Given the description of an element on the screen output the (x, y) to click on. 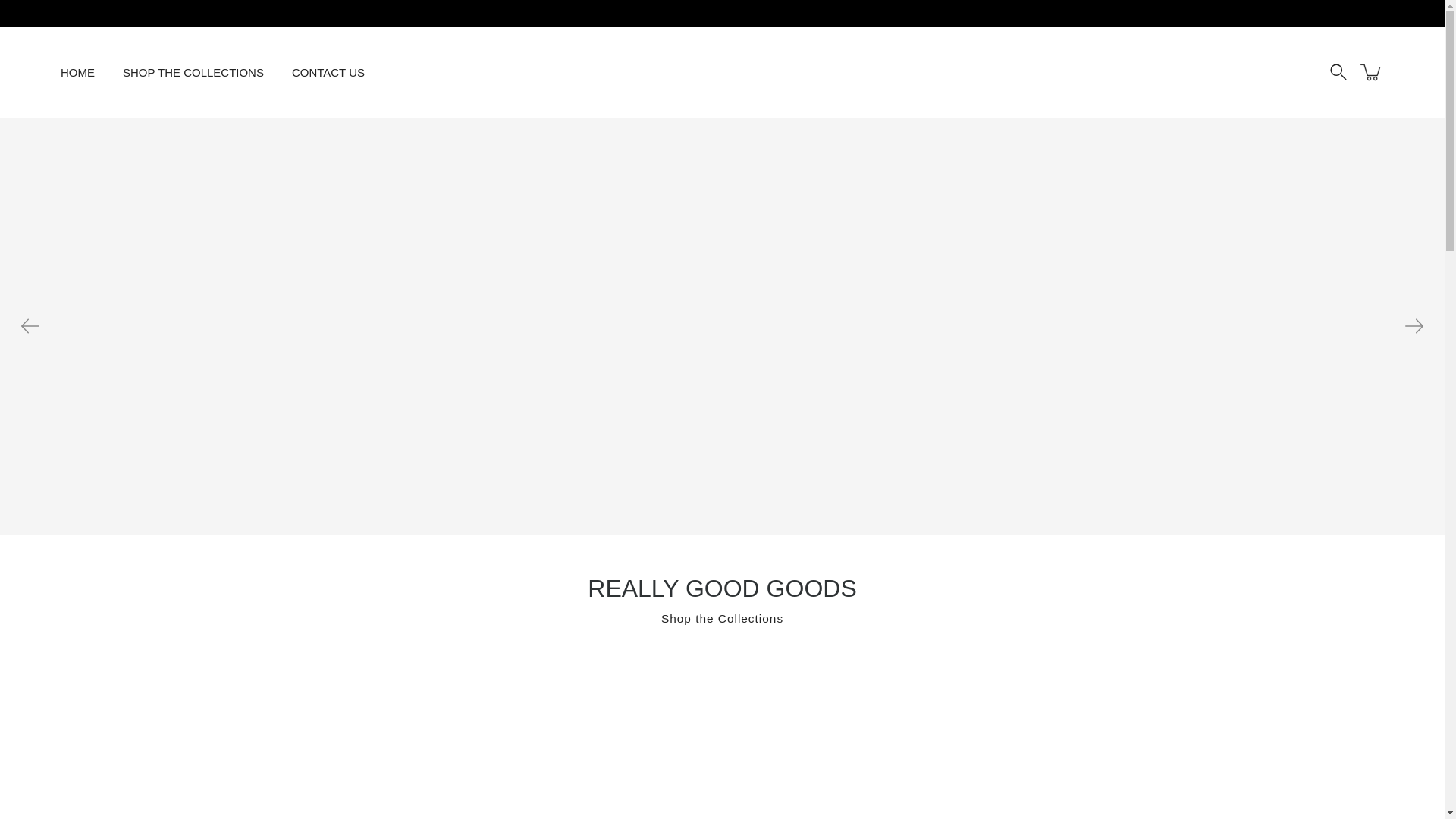
SHOP THE COLLECTIONS (192, 71)
CONTACT US (328, 71)
HOME (77, 71)
